Given the description of an element on the screen output the (x, y) to click on. 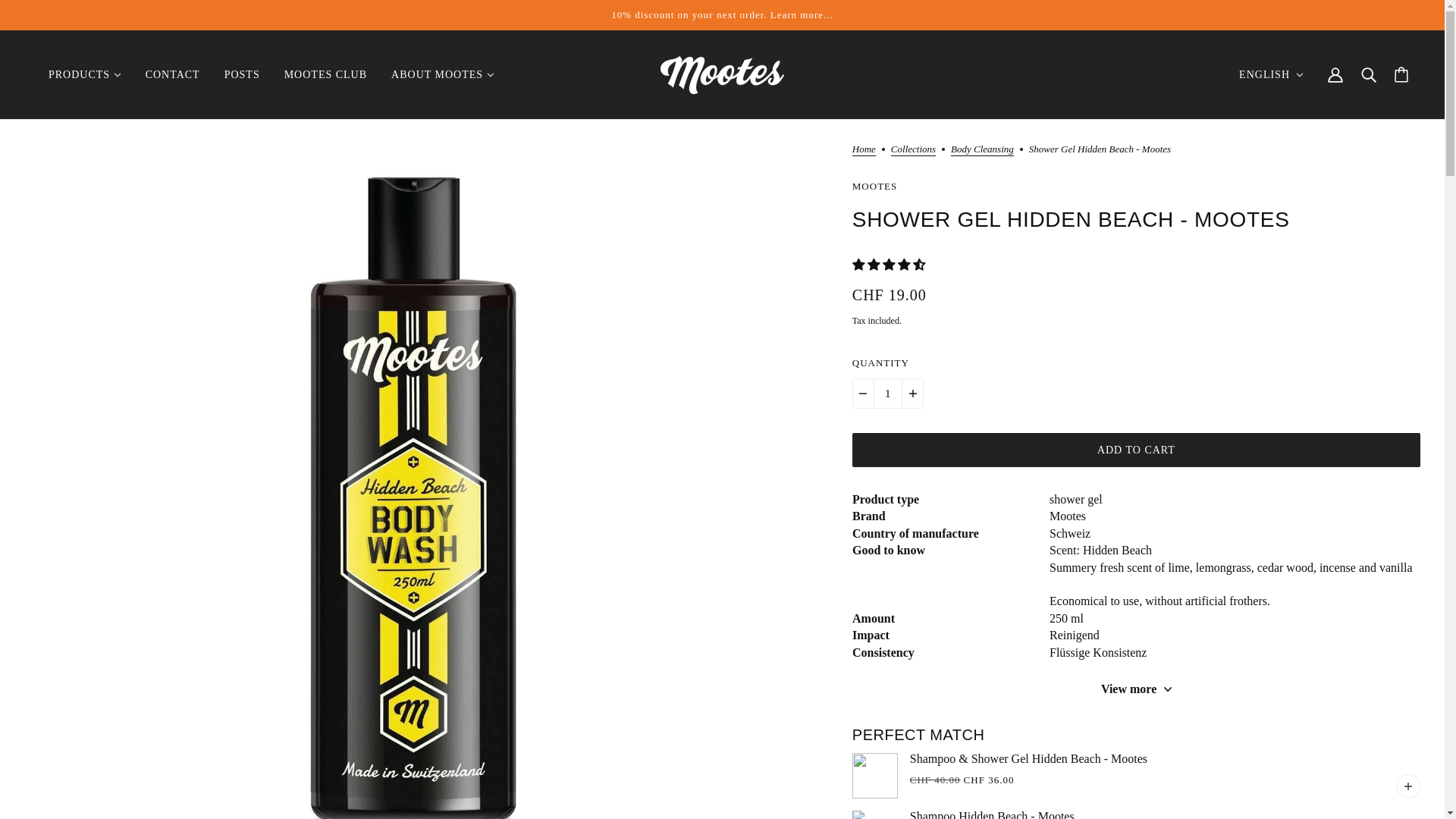
1 (887, 393)
PRODUCTS  (84, 74)
Mootes (722, 75)
